Given the description of an element on the screen output the (x, y) to click on. 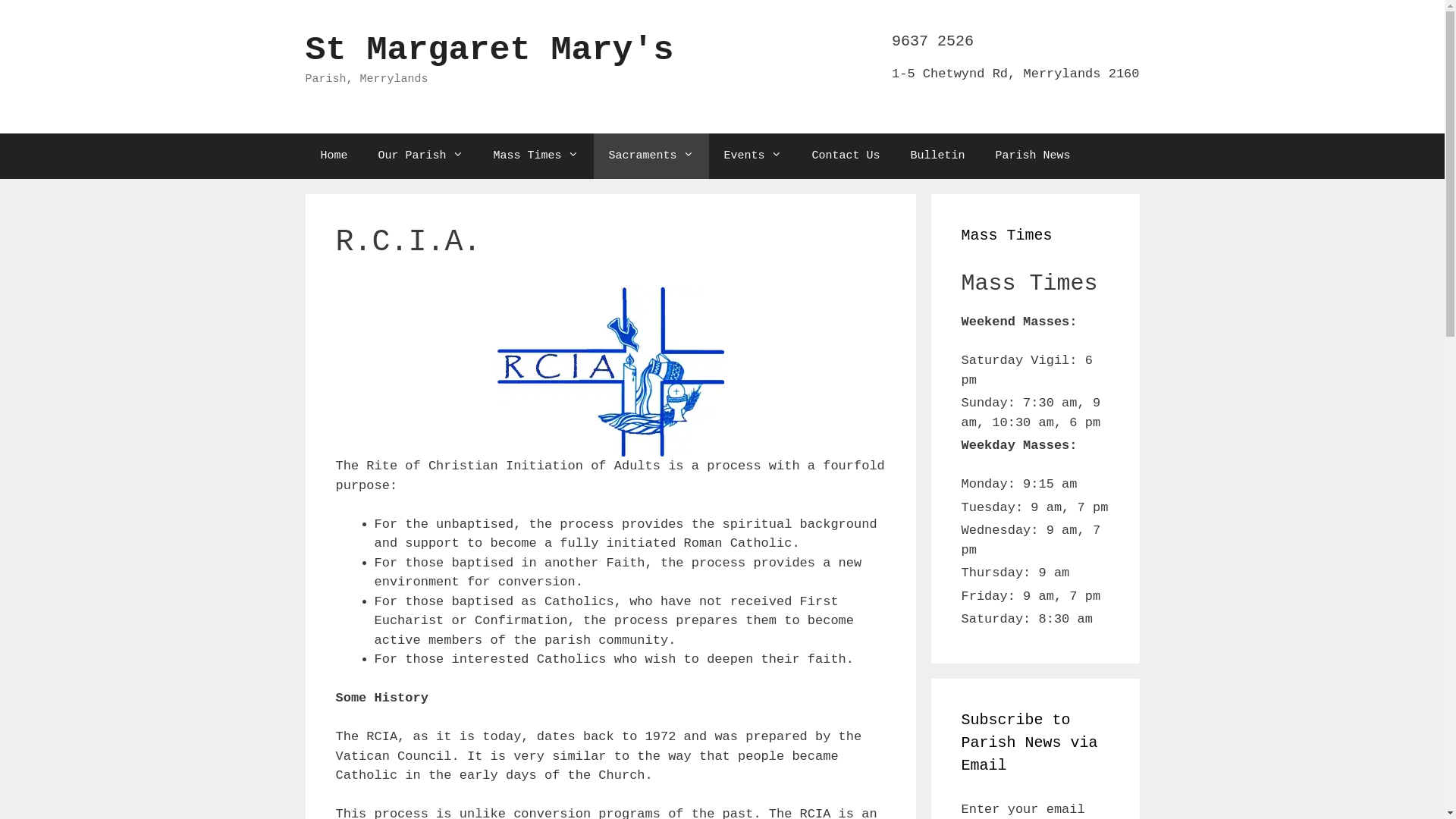
Sacraments Element type: text (651, 155)
Home Element type: text (333, 155)
Mass Times Element type: text (535, 155)
Parish News Element type: text (1032, 155)
St Margaret Mary's Element type: text (488, 50)
Contact Us Element type: text (846, 155)
Our Parish Element type: text (420, 155)
Events Element type: text (753, 155)
Search Element type: text (39, 18)
Bulletin Element type: text (937, 155)
